Given the description of an element on the screen output the (x, y) to click on. 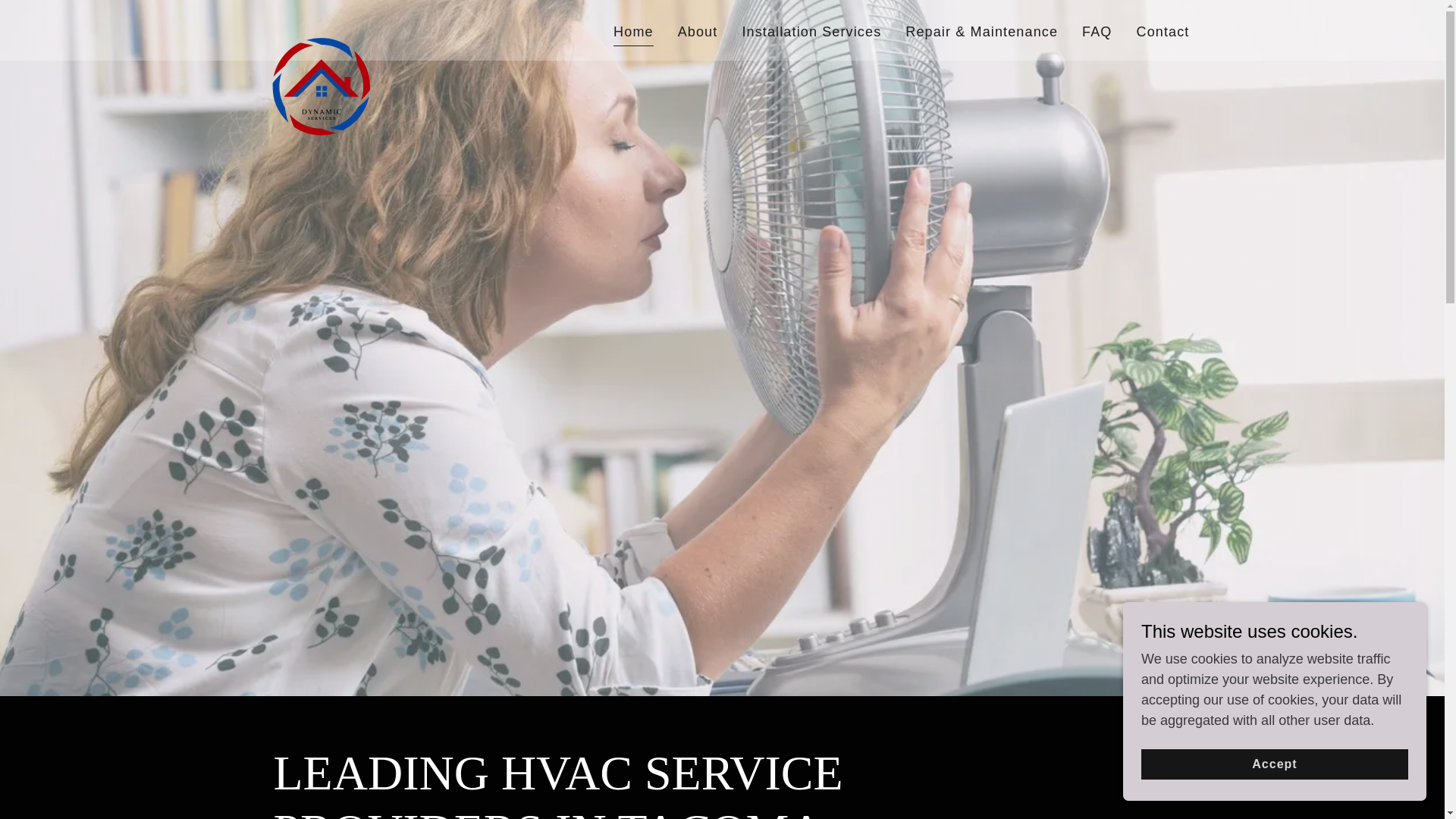
About (697, 31)
FAQ (1096, 31)
Installation Services (810, 31)
Home (632, 33)
Dynamic Services (320, 27)
Accept (1274, 764)
Contact (1162, 31)
